Given the description of an element on the screen output the (x, y) to click on. 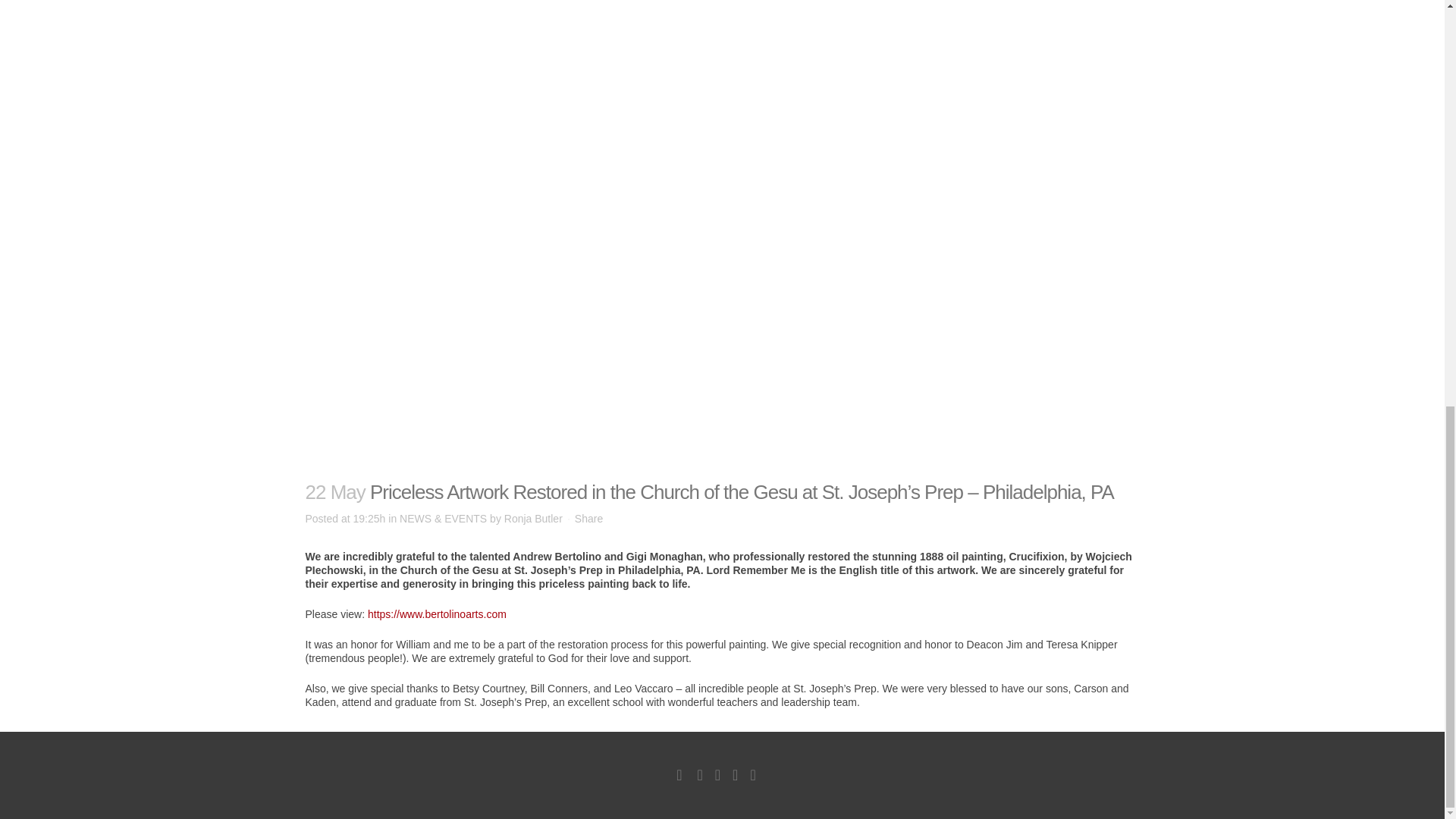
Share (588, 518)
Ronja Butler (532, 518)
